Given the description of an element on the screen output the (x, y) to click on. 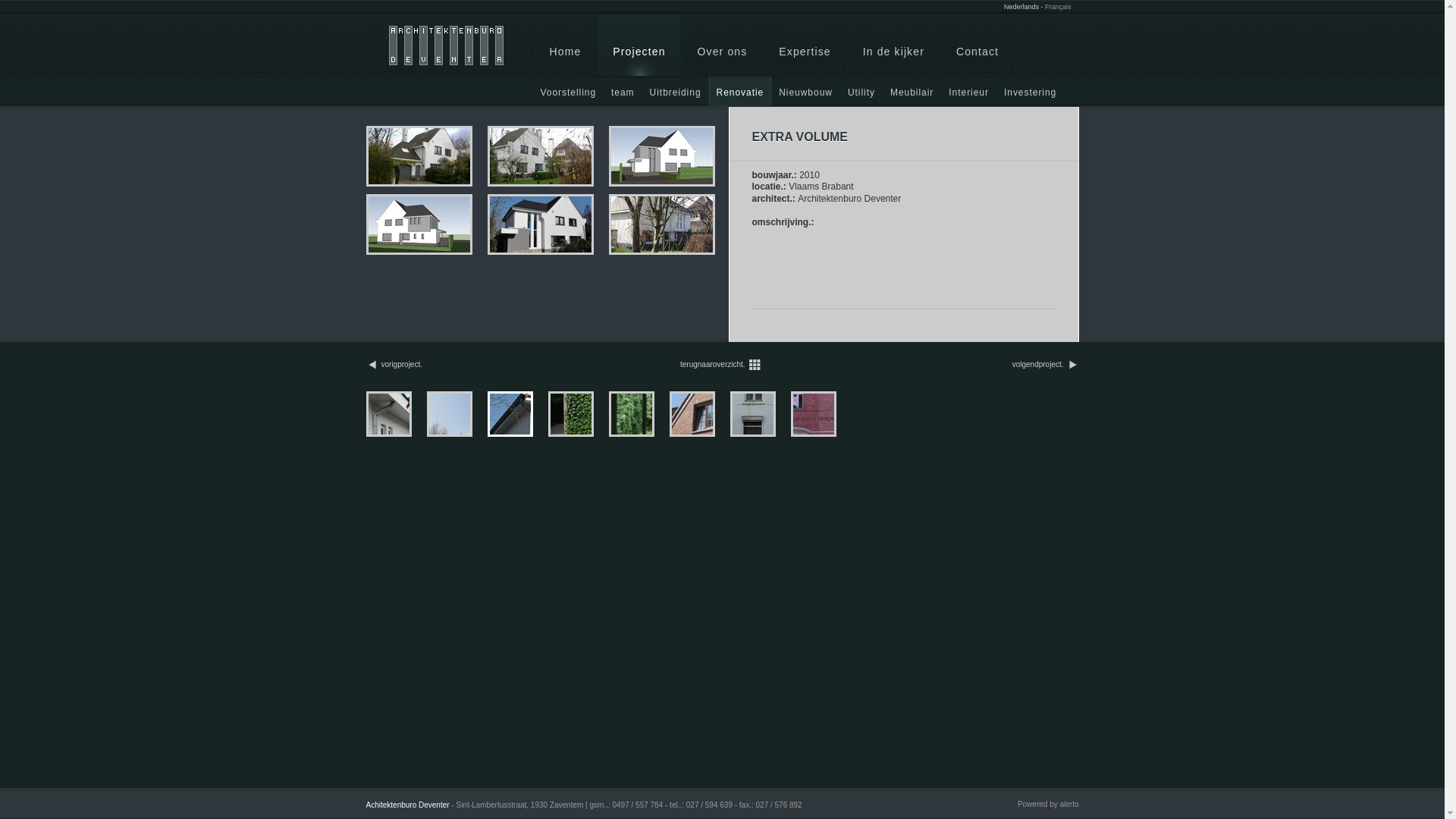
Uitbreiding Element type: text (675, 91)
Room with a view  Element type: hover (626, 434)
5 Element type: hover (540, 224)
Stedelijke renovatie  Element type: hover (687, 434)
In de kijker Element type: text (893, 45)
Investering Element type: text (1029, 91)
Projecten Element type: text (638, 45)
In aanbouw Element type: text (640, 120)
team Element type: text (622, 91)
Voorstelling Element type: text (567, 91)
Utility Element type: text (861, 91)
voor 2 Element type: hover (540, 156)
Dakrenovatie Element type: hover (747, 434)
Extra volume Element type: hover (565, 434)
Verrassend ruim Element type: hover (444, 434)
Nieuwbouw Element type: text (805, 91)
6 Element type: hover (661, 224)
Meubilair Element type: text (911, 91)
3 Element type: hover (661, 156)
Interieur Element type: text (968, 91)
Powered by alerto Element type: text (1048, 804)
Expertise Element type: text (804, 45)
4 Element type: hover (419, 224)
Totaal Renovatie Element type: hover (505, 434)
terugnaaroverzicht. Element type: text (712, 364)
voor 1 Element type: hover (419, 156)
Over ons Element type: text (722, 45)
Home Element type: text (564, 45)
Consultancy Element type: text (568, 120)
AVH Element type: hover (869, 434)
volgendproject. Element type: text (1038, 364)
Contact Element type: text (977, 45)
Nederlands Element type: text (1021, 6)
vorigproject. Element type: text (400, 364)
Renovatie Element type: text (740, 91)
MIJN HUIS MIJN ARCHITEKT Element type: hover (808, 434)
